Given the description of an element on the screen output the (x, y) to click on. 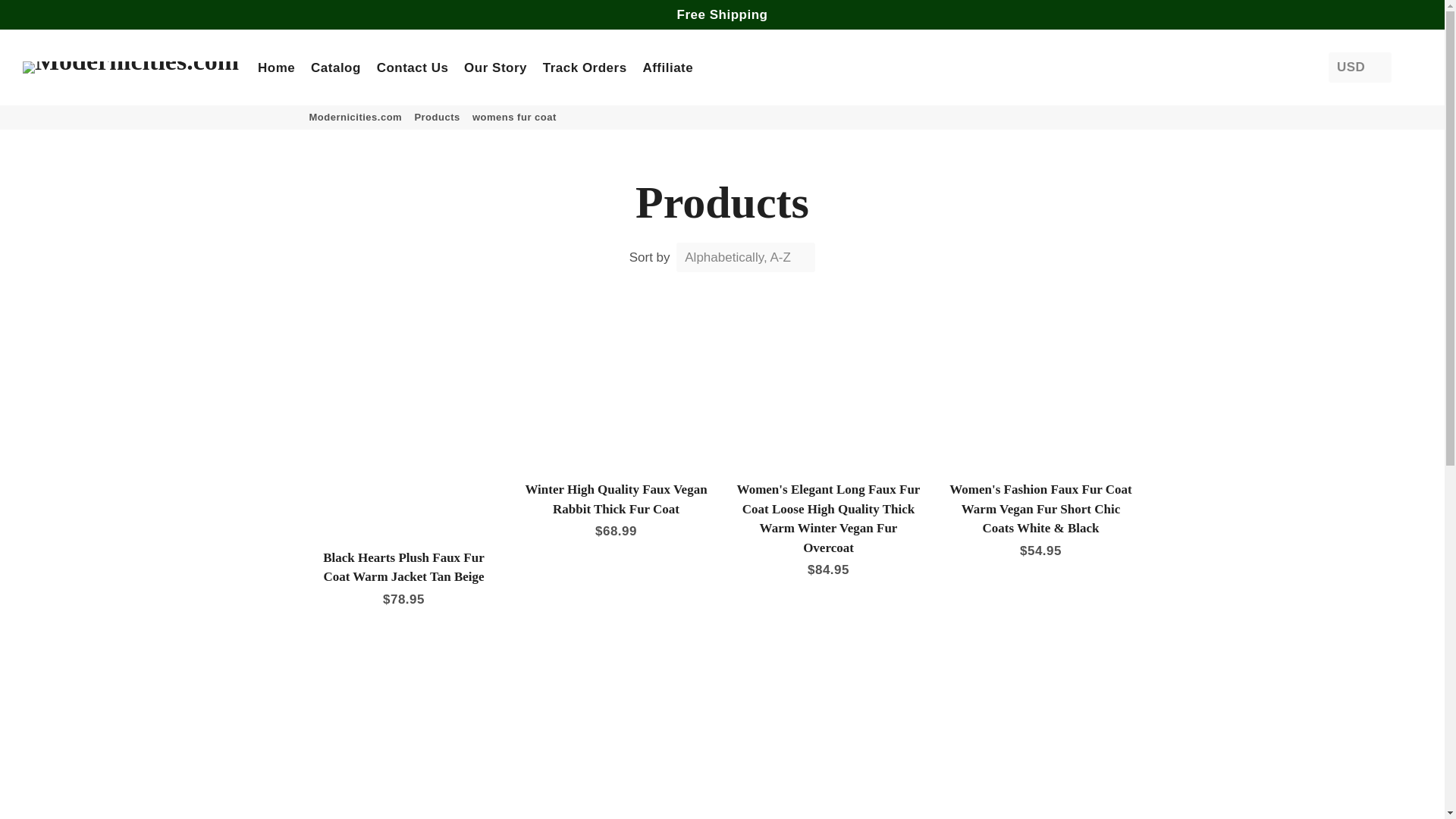
Affiliate (667, 66)
Our Story (495, 66)
Cart (1415, 66)
Contact Us (412, 66)
Catalog (335, 66)
Products (436, 117)
Home (276, 66)
Modernicities.com (355, 117)
Track Orders (585, 66)
Search (1403, 66)
